Given the description of an element on the screen output the (x, y) to click on. 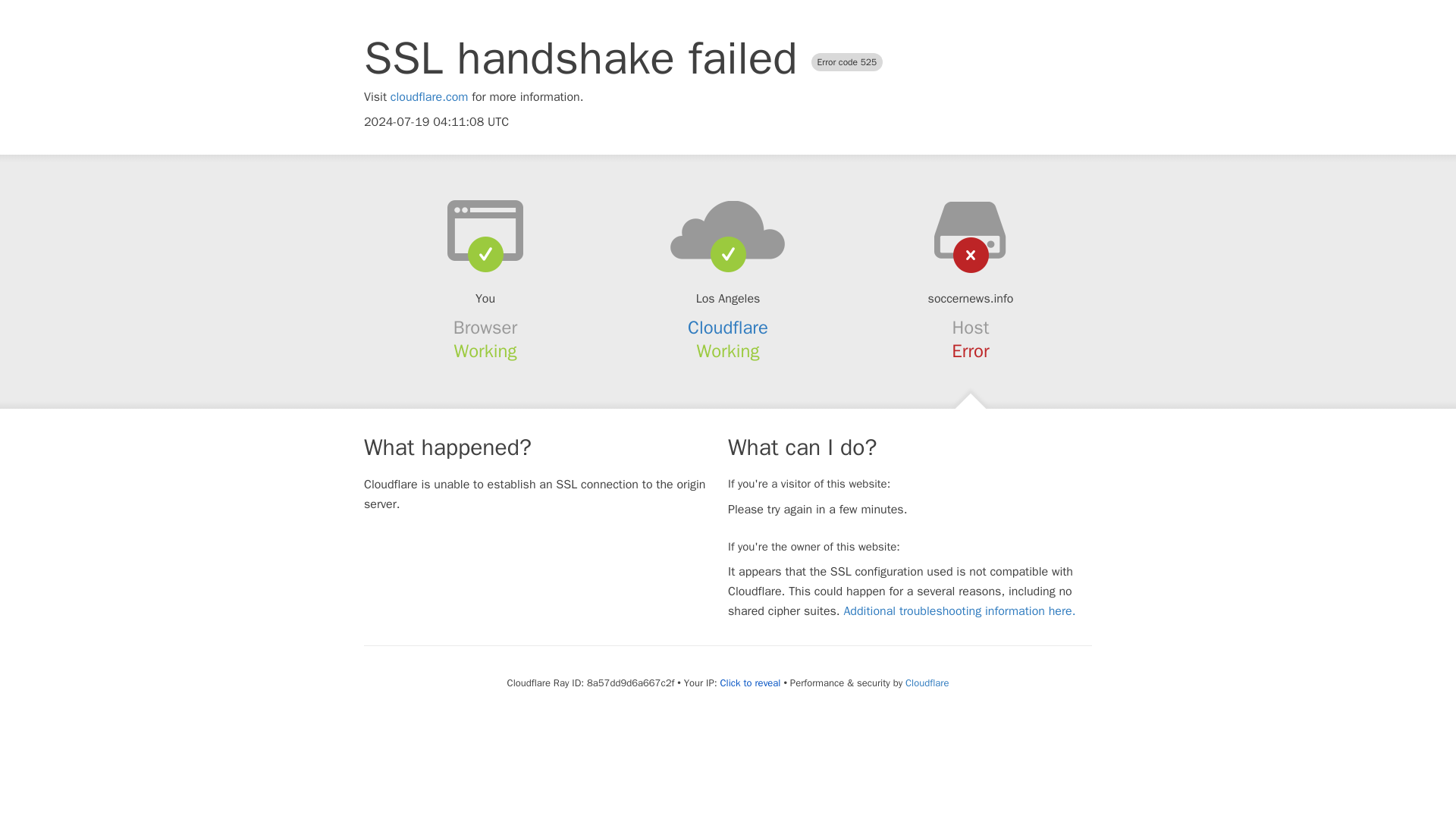
Cloudflare (727, 327)
cloudflare.com (429, 96)
Additional troubleshooting information here. (959, 611)
Cloudflare (927, 682)
Click to reveal (750, 683)
